Given the description of an element on the screen output the (x, y) to click on. 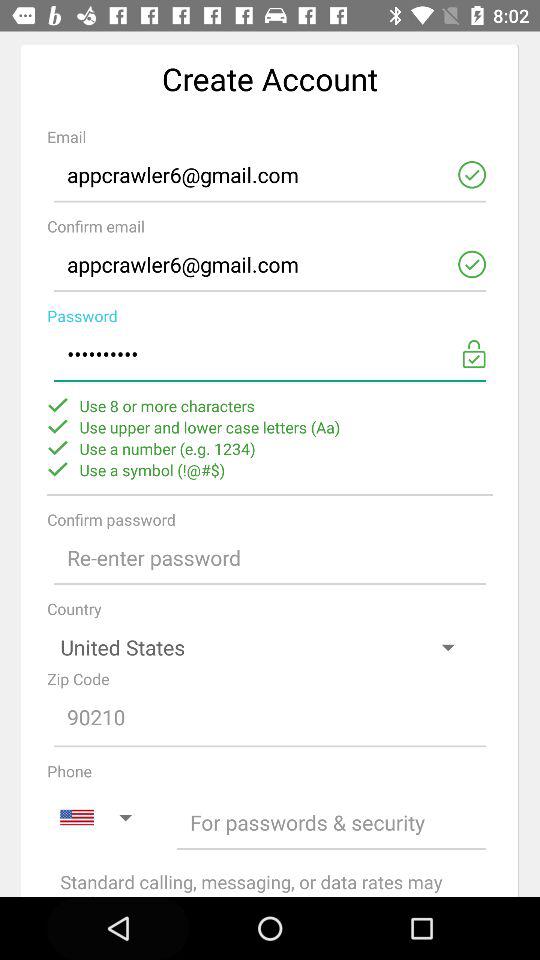
enter phone number (331, 822)
